Given the description of an element on the screen output the (x, y) to click on. 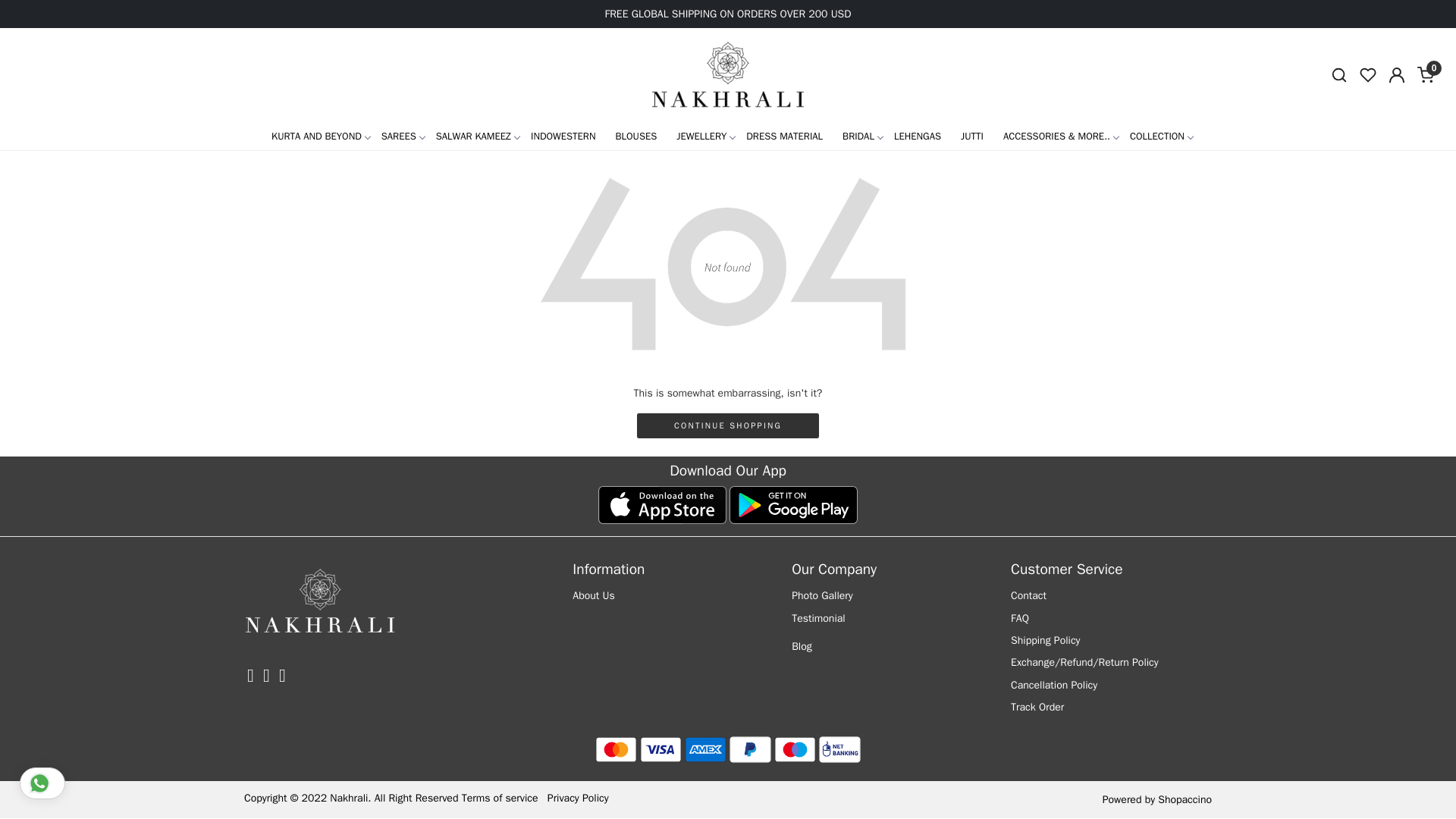
INDOWESTERN (563, 135)
BLOUSES (635, 135)
SALWAR KAMEEZ (473, 135)
JEWELLERY (701, 135)
Shopaccino (1184, 799)
LEHENGAS (916, 135)
SAREES (398, 135)
BRIDAL (857, 135)
KURTA AND BEYOND (316, 135)
Android App (793, 505)
